Given the description of an element on the screen output the (x, y) to click on. 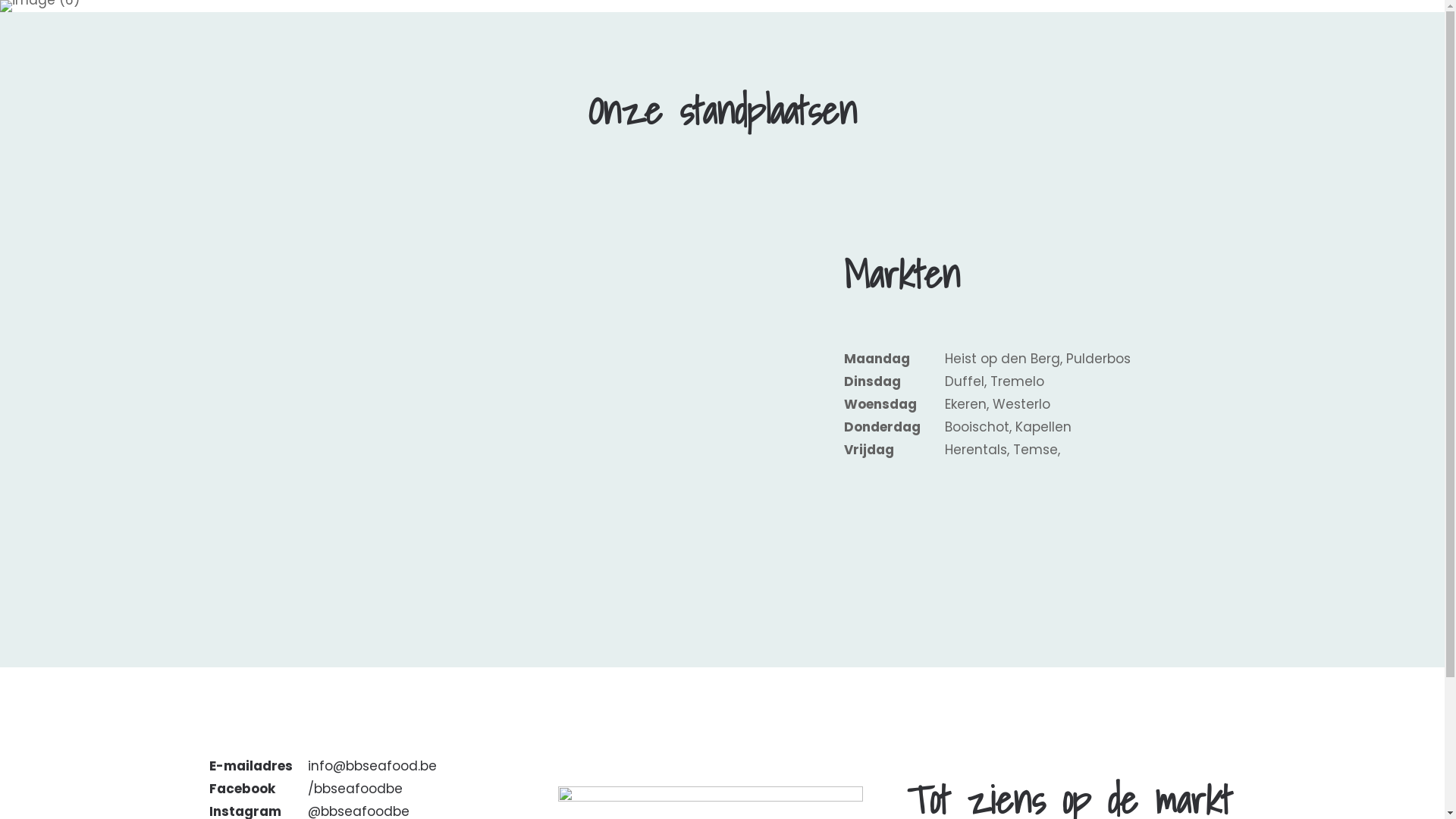
image (6) Element type: hover (39, 6)
/bbseafoodbe Element type: text (354, 788)
info@bbseafood.be Element type: text (371, 765)
